Given the description of an element on the screen output the (x, y) to click on. 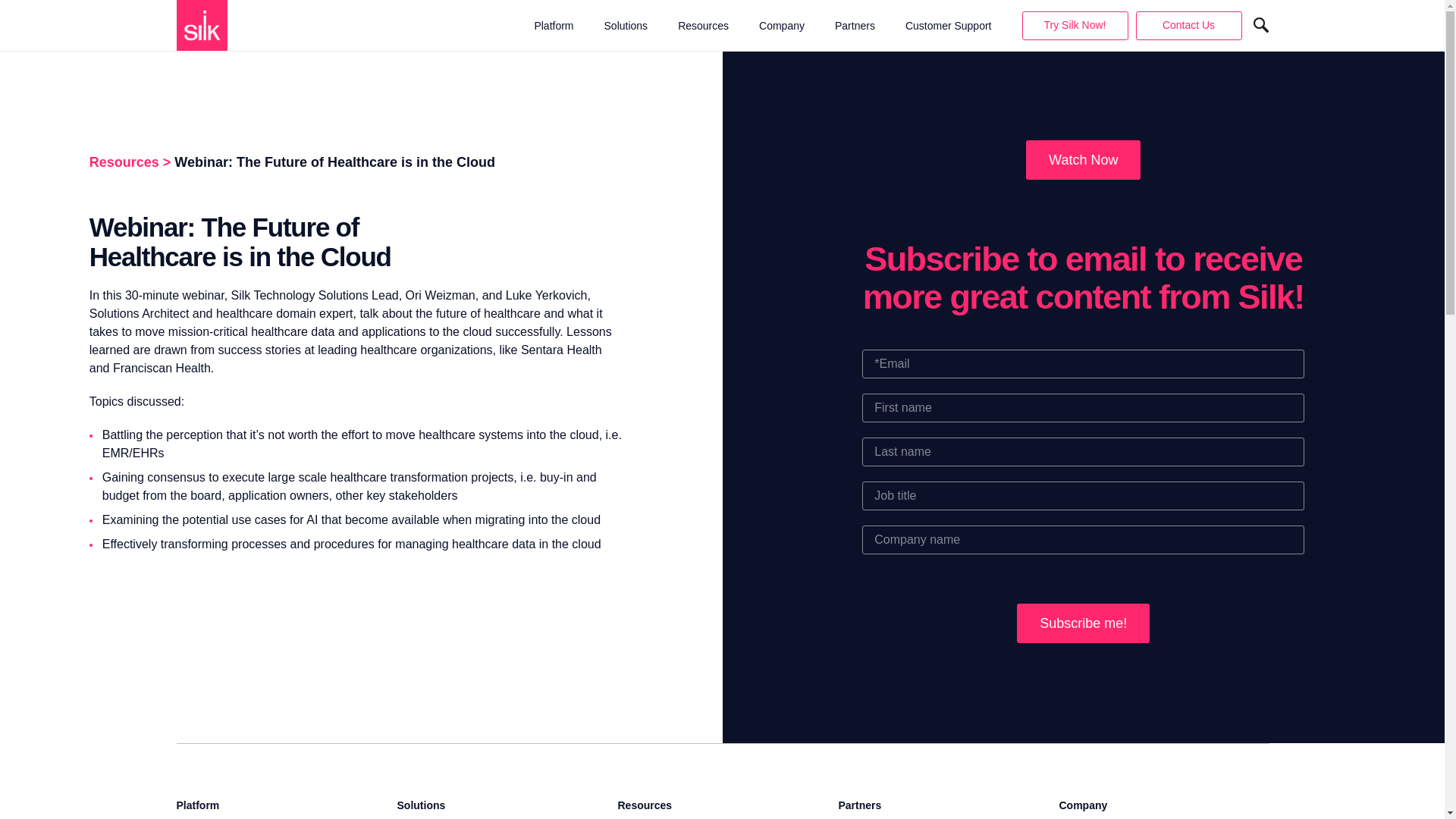
Subscribe me! (1083, 622)
Solutions (625, 25)
Platform (553, 25)
Resources (703, 25)
